Given the description of an element on the screen output the (x, y) to click on. 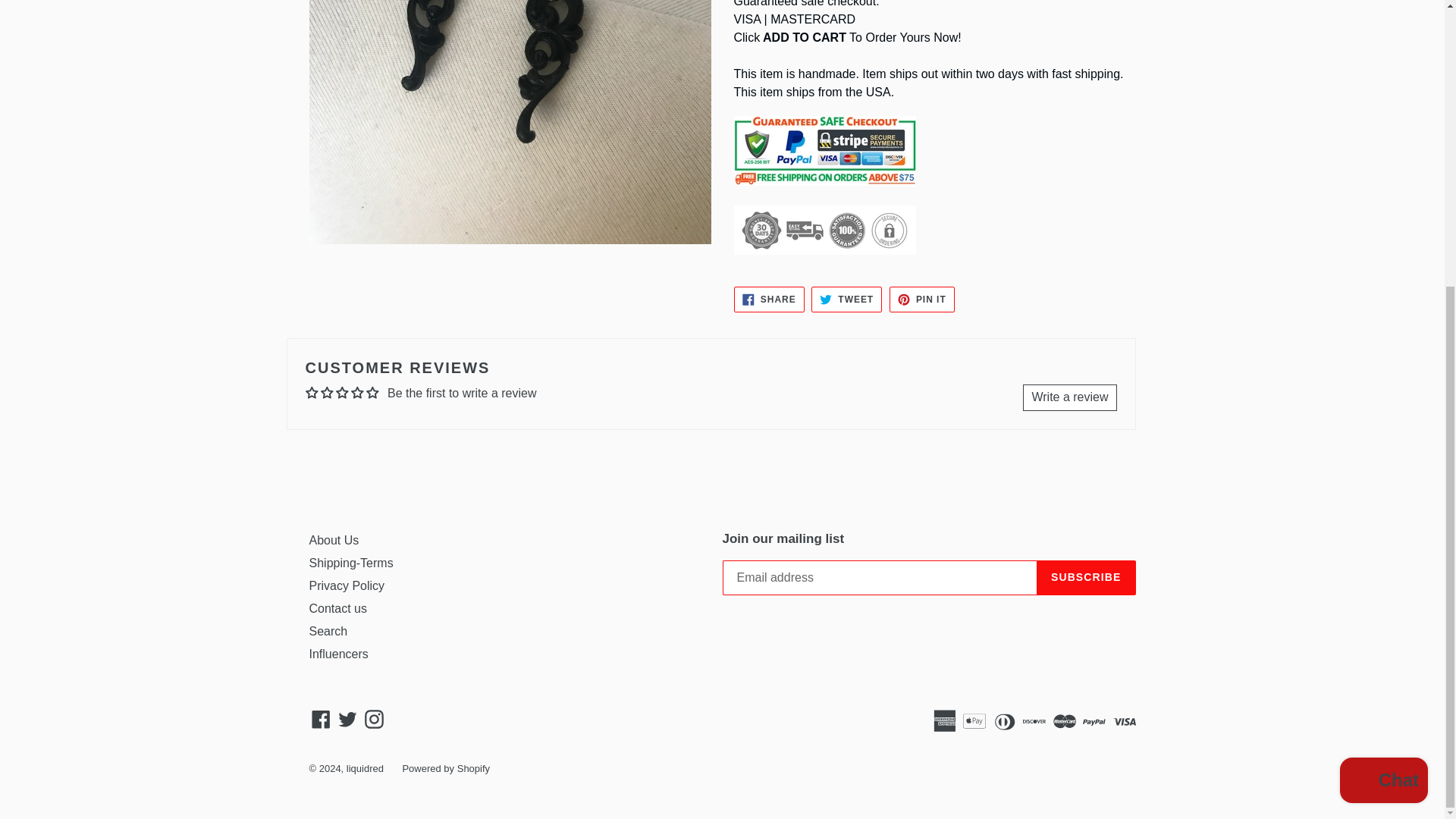
liquidred on Instagram (373, 719)
liquidred on Facebook (320, 719)
Tweet on Twitter (846, 299)
Shopify online store chat (1383, 348)
Pin on Pinterest (922, 299)
liquidred on Twitter (347, 719)
Share on Facebook (769, 299)
